Given the description of an element on the screen output the (x, y) to click on. 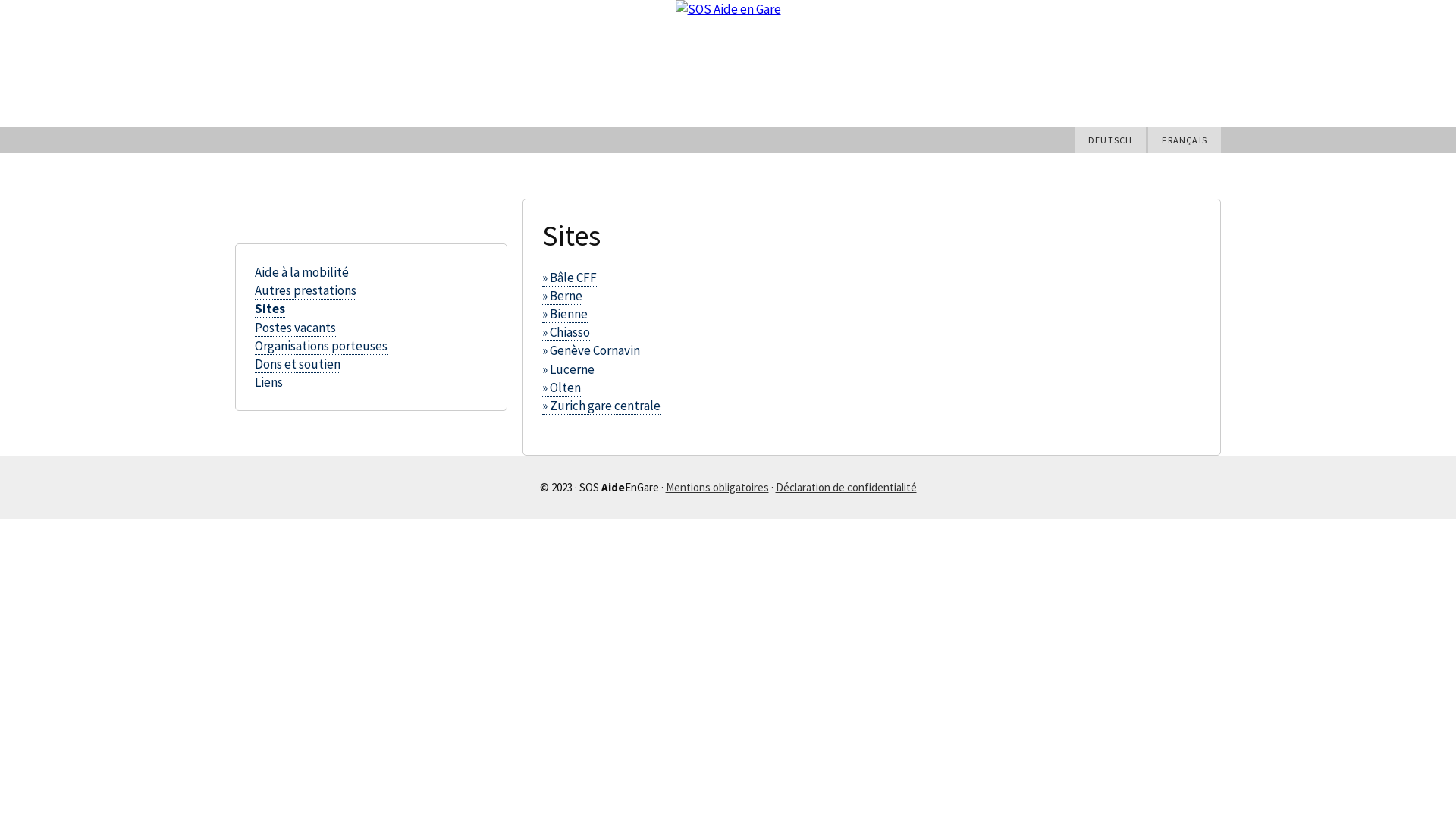
Sites Element type: text (269, 308)
Liens Element type: text (268, 382)
Mentions obligatoires Element type: text (716, 487)
Dons et soutien Element type: text (297, 364)
Postes vacants Element type: text (294, 327)
Autres prestations Element type: text (305, 290)
DEUTSCH Element type: text (1109, 140)
Organisations porteuses Element type: text (320, 345)
